Given the description of an element on the screen output the (x, y) to click on. 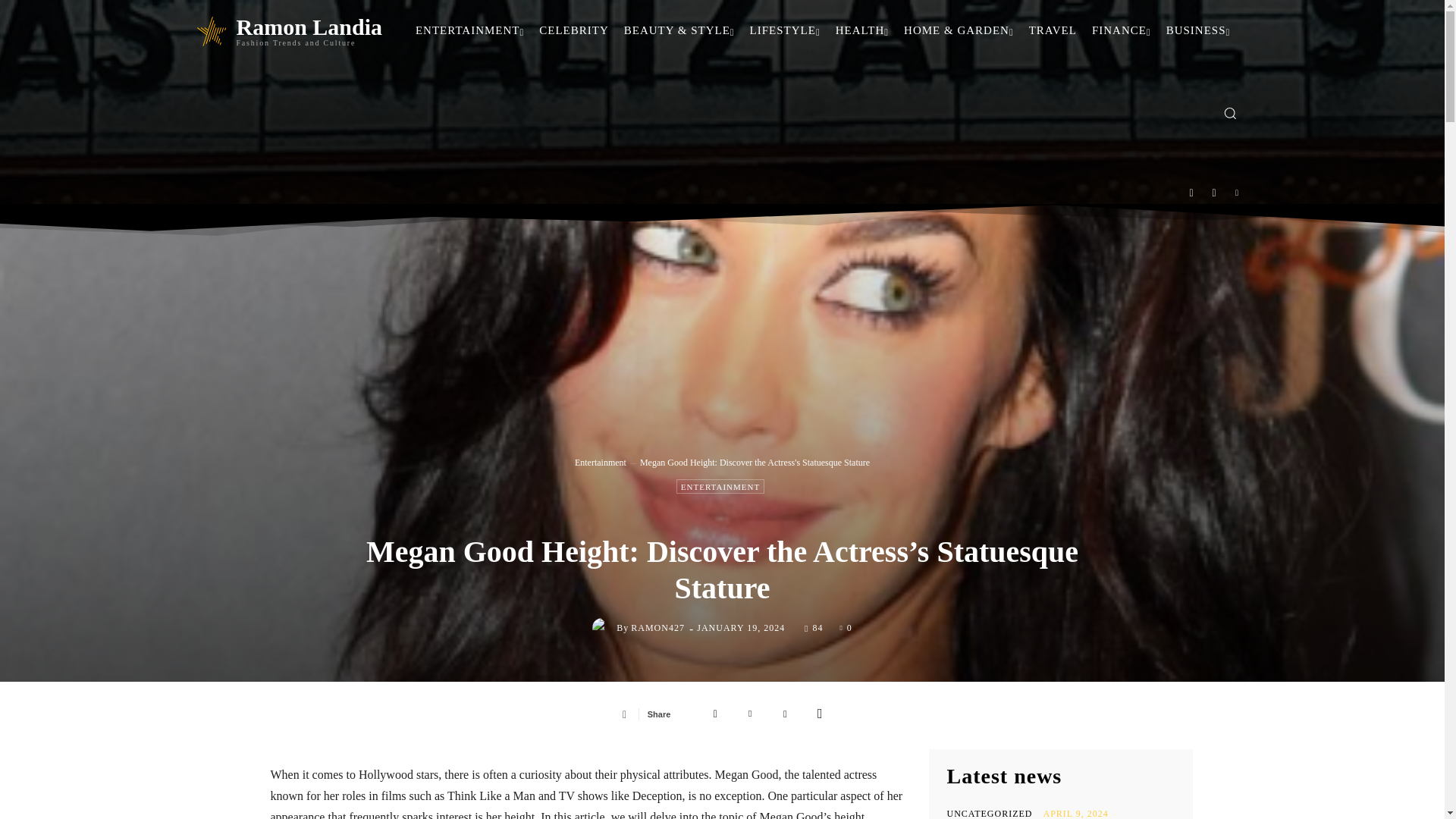
ramon427 (603, 628)
Facebook (715, 713)
WhatsApp (819, 713)
Twitter (1237, 192)
View all posts in Entertainment (600, 462)
Facebook (1191, 192)
Instagram (1214, 192)
Twitter (750, 713)
Pinterest (784, 713)
